Given the description of an element on the screen output the (x, y) to click on. 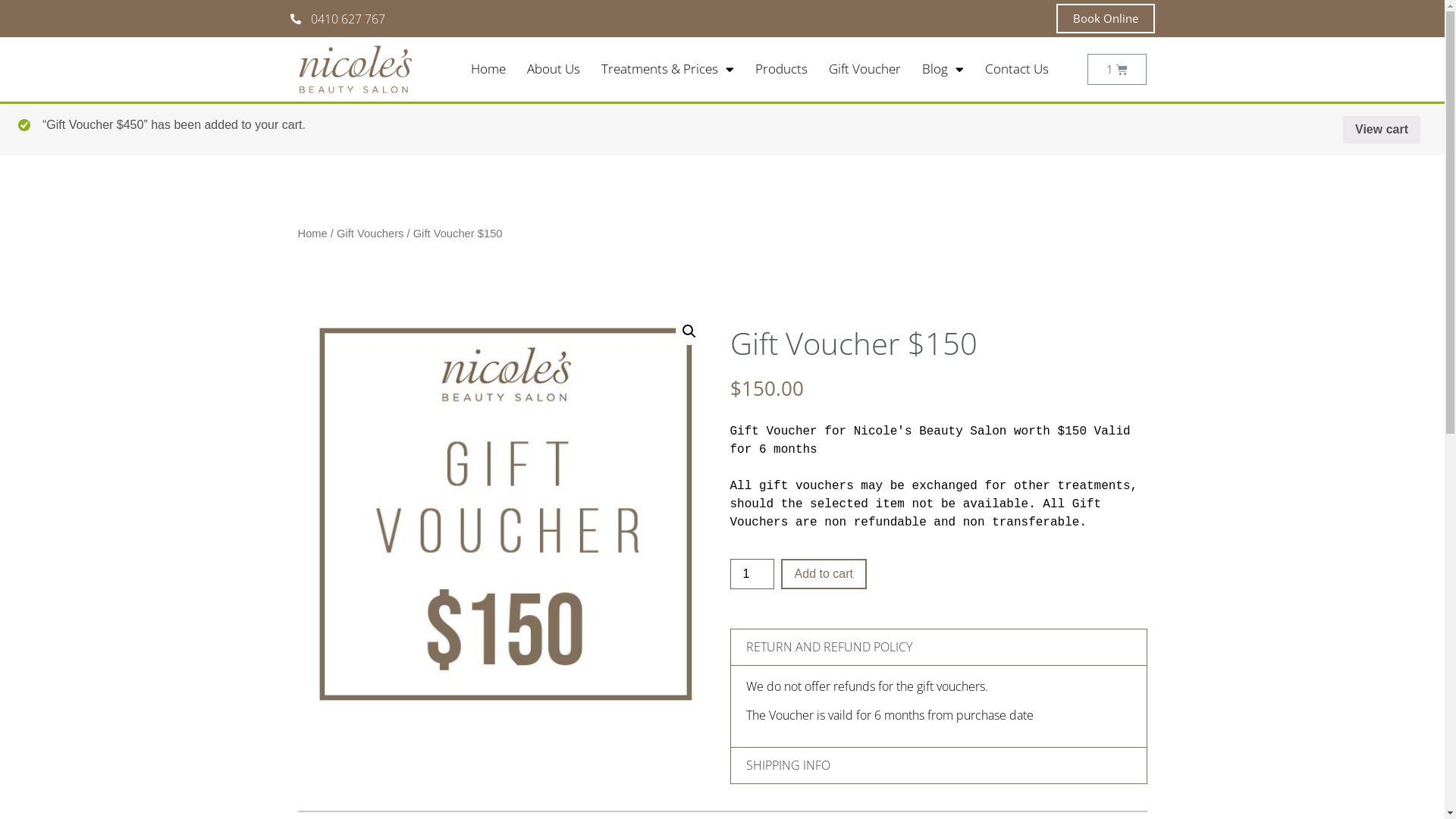
giftvoucher-150 Element type: hover (505, 513)
Home Element type: text (311, 233)
Treatments & Prices Element type: text (666, 68)
View cart Element type: text (1381, 129)
Blog Element type: text (942, 68)
Contact Us Element type: text (1015, 68)
Gift Vouchers Element type: text (369, 233)
Gift Voucher Element type: text (863, 68)
Book Online Element type: text (1104, 18)
0410 627 767 Element type: text (505, 18)
Add to cart Element type: text (823, 573)
Products Element type: text (781, 68)
RETURN AND REFUND POLICY Element type: text (829, 646)
About Us Element type: text (552, 68)
Qty Element type: hover (751, 573)
SHIPPING INFO Element type: text (788, 764)
Home Element type: text (487, 68)
